Given the description of an element on the screen output the (x, y) to click on. 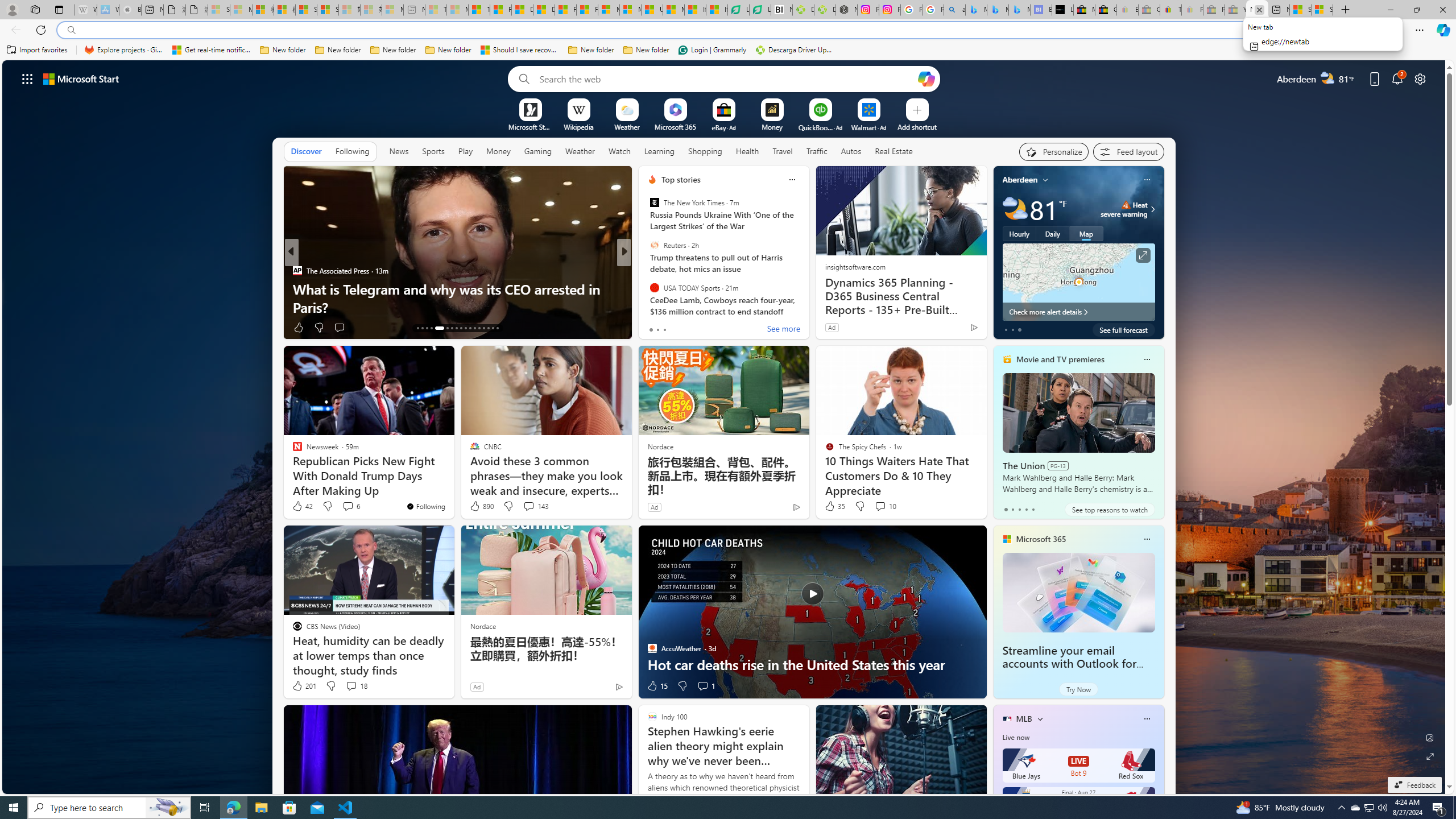
Climate Crisis 247 (647, 270)
tab-3 (1025, 509)
Hey She Thrives (647, 288)
AutomationID: tab-30 (483, 328)
View comments 6 Comment (347, 505)
Feedback (1414, 784)
Should I save recovered Word documents? - Microsoft Support (519, 49)
201 Like (303, 685)
Why You Wake Up Earlier As You Get Older (807, 307)
